Given the description of an element on the screen output the (x, y) to click on. 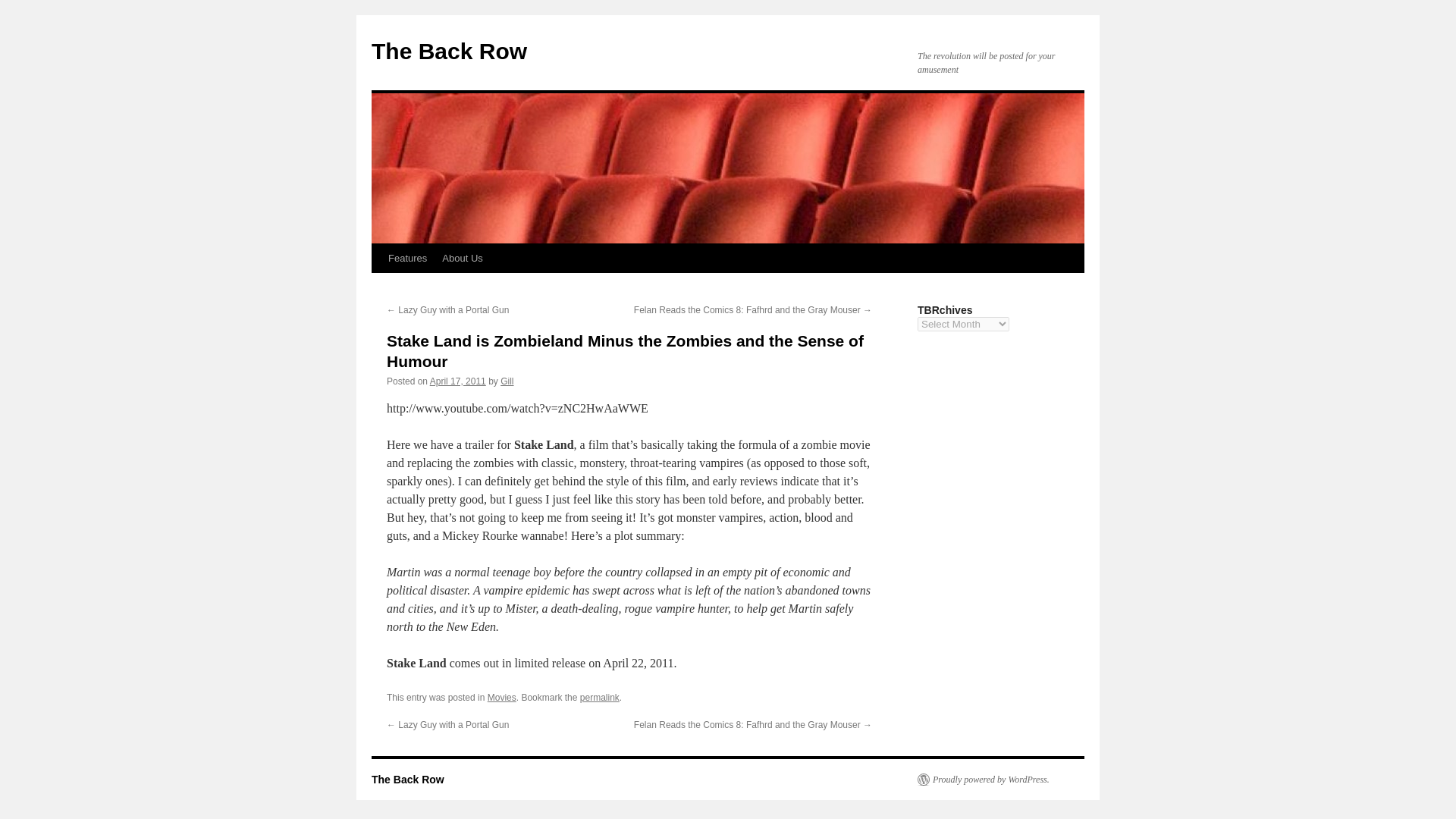
About Us (461, 258)
Features (406, 258)
April 17, 2011 (457, 380)
Gill (506, 380)
permalink (599, 697)
The Back Row (449, 50)
View all posts by Gill (506, 380)
Movies (501, 697)
11:37 am (457, 380)
